Given the description of an element on the screen output the (x, y) to click on. 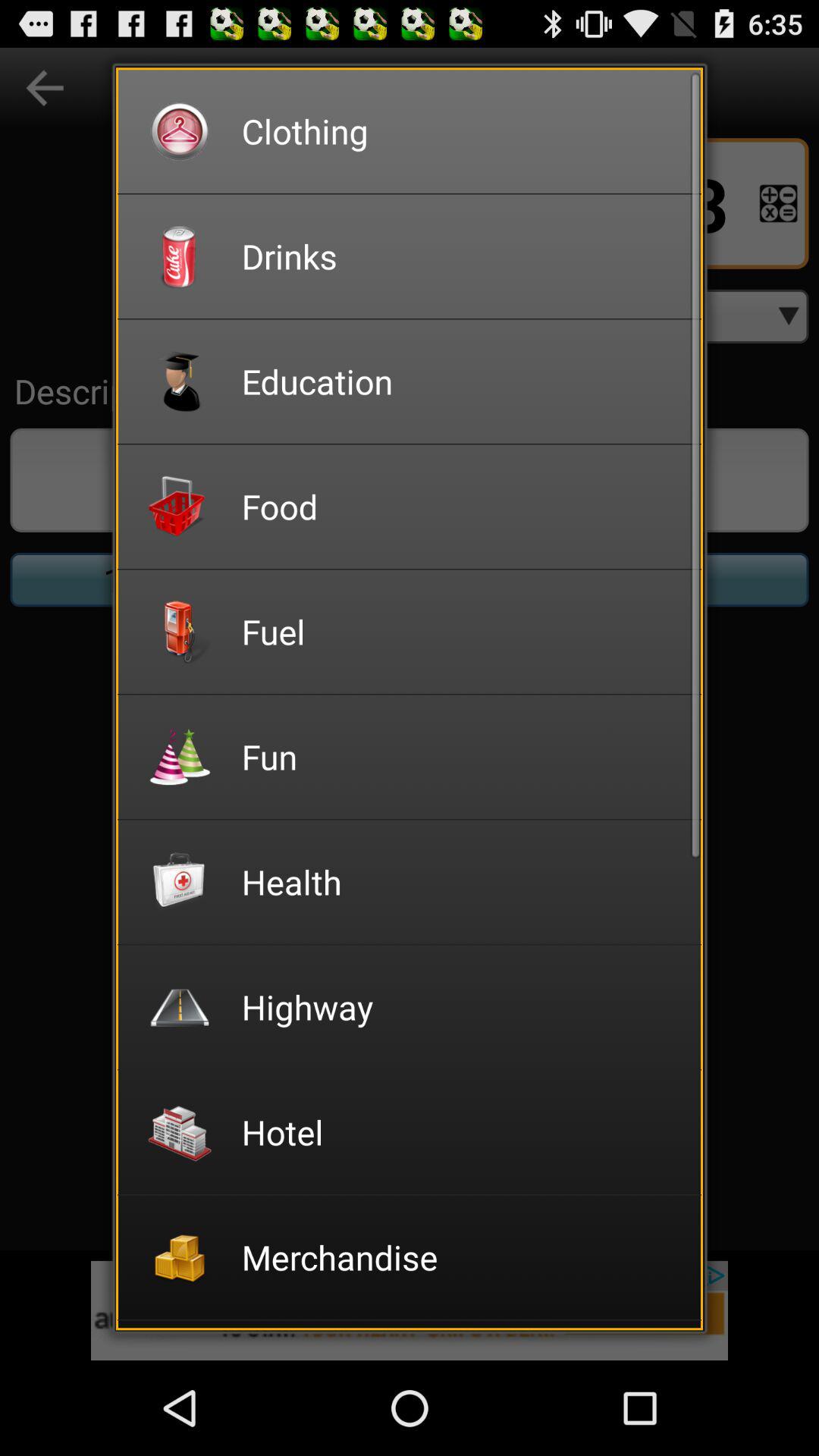
choose item below the hotel item (461, 1257)
